Given the description of an element on the screen output the (x, y) to click on. 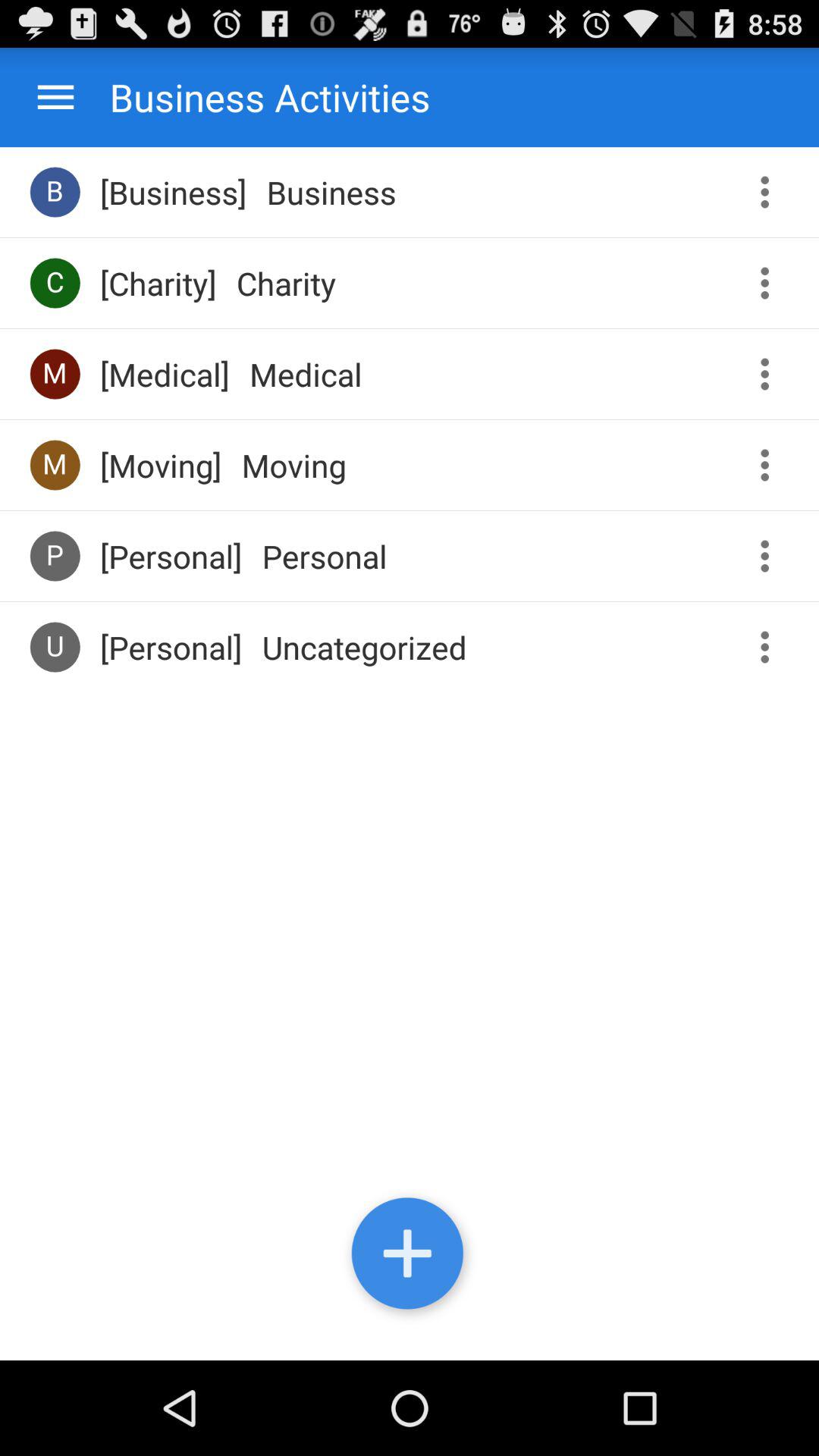
access menu for this activity (770, 647)
